Given the description of an element on the screen output the (x, y) to click on. 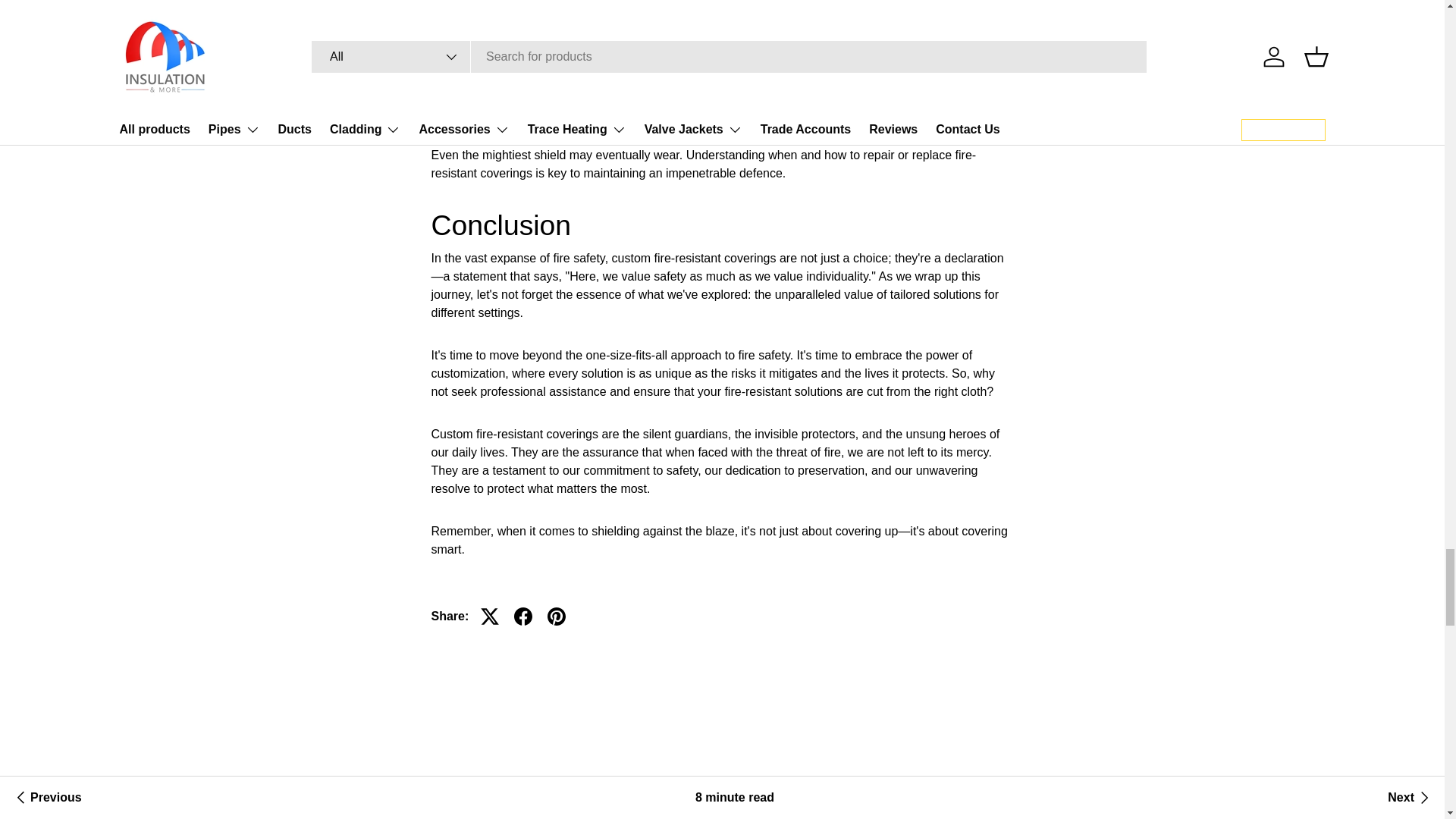
Pin on Pinterest (556, 616)
Share on Facebook (523, 616)
Tweet on X (489, 616)
